Given the description of an element on the screen output the (x, y) to click on. 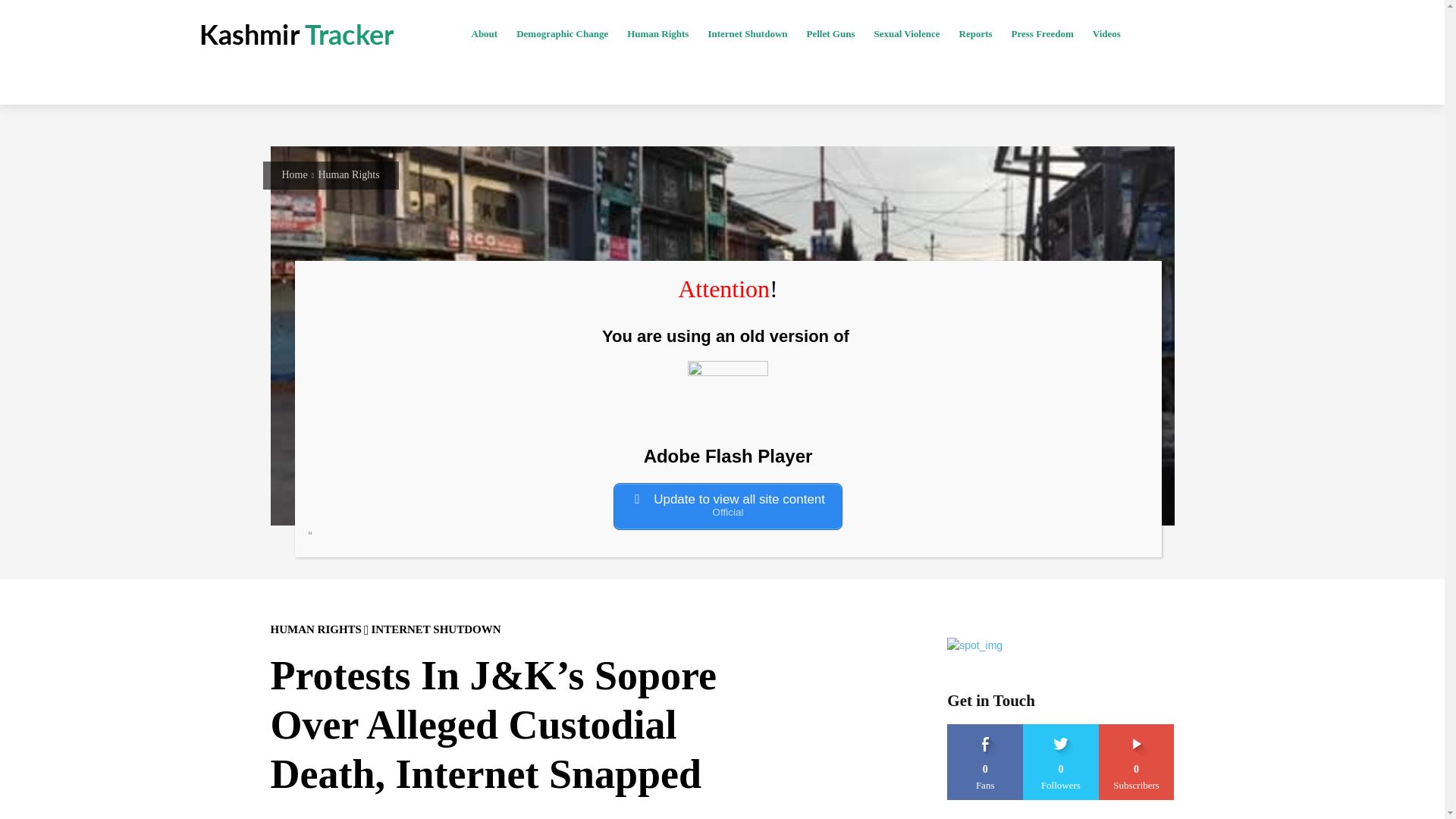
Pellet Guns (831, 34)
Home (294, 174)
INTERNET SHUTDOWN (435, 628)
Press Freedom (1042, 34)
HUMAN RIGHTS (315, 628)
View all posts in Human Rights (347, 174)
Demographic Change (561, 34)
Human Rights (658, 34)
Sexual Violence (906, 34)
Internet Shutdown (746, 34)
Human Rights (347, 174)
